Given the description of an element on the screen output the (x, y) to click on. 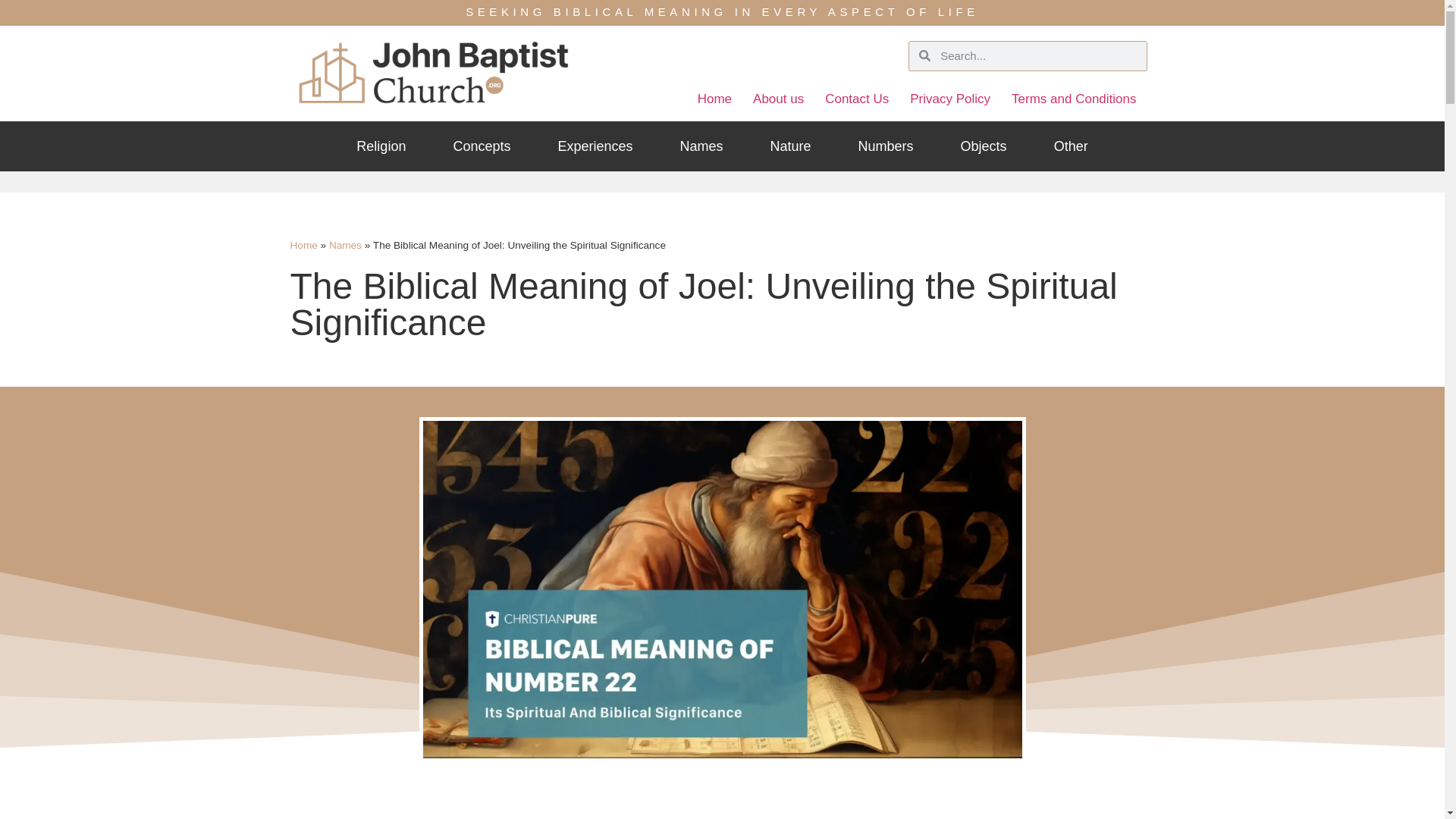
Objects (983, 145)
Privacy Policy (950, 99)
Contact Us (856, 99)
About us (777, 99)
Numbers (885, 145)
Names (345, 244)
Religion (380, 145)
Nature (791, 145)
Names (701, 145)
Home (714, 99)
Other (1071, 145)
Concepts (481, 145)
Experiences (594, 145)
Home (303, 244)
Terms and Conditions (1074, 99)
